Given the description of an element on the screen output the (x, y) to click on. 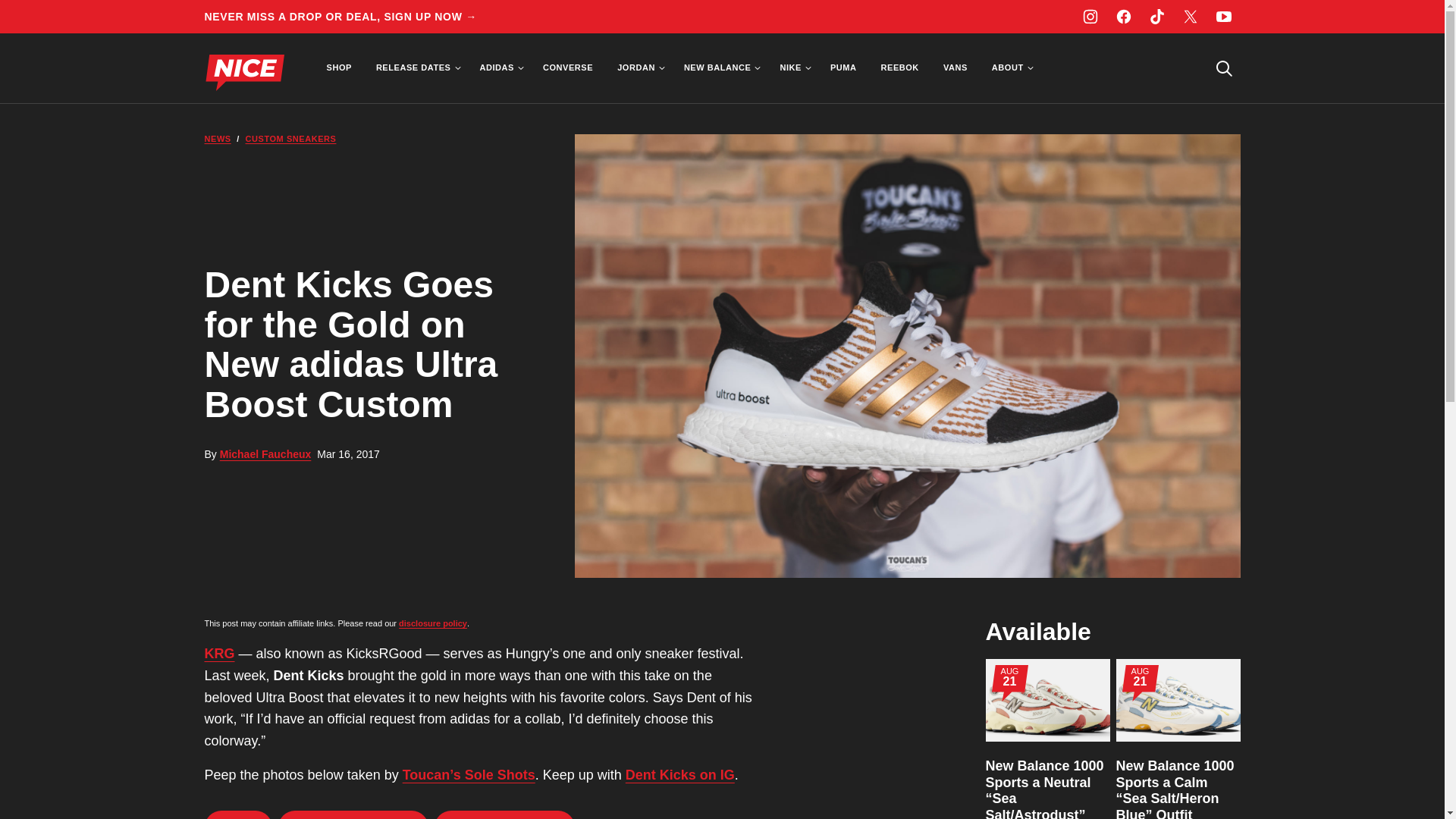
SHOP (338, 67)
NEW BALANCE (719, 67)
CONVERSE (568, 67)
ADIDAS (499, 67)
RELEASE DATES (415, 67)
JORDAN (638, 67)
